Given the description of an element on the screen output the (x, y) to click on. 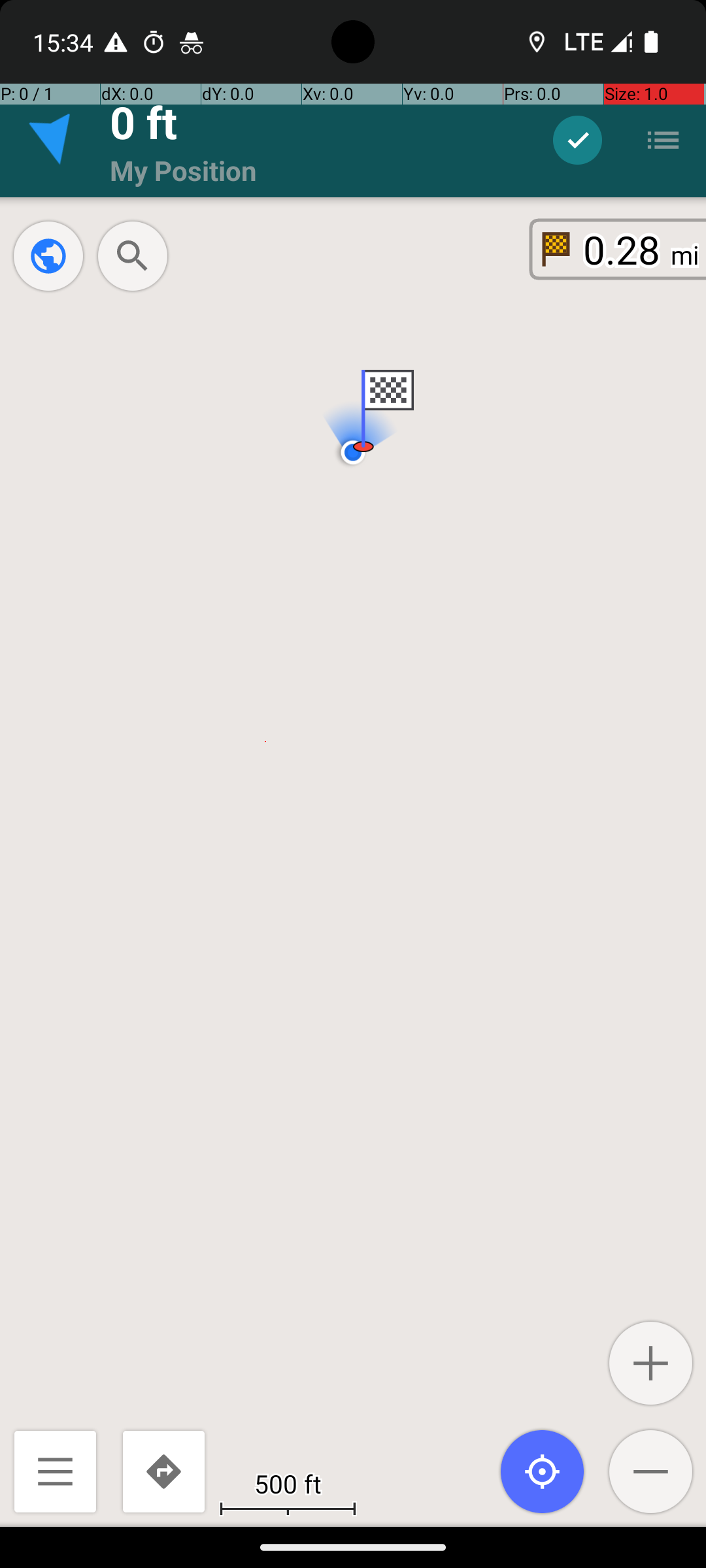
500 ft Element type: android.widget.TextView (287, 1483)
Where am I Element type: android.widget.ImageButton (542, 1471)
0 ft Element type: android.widget.TextView (143, 121)
My Position Element type: android.widget.TextView (182, 169)
Move to history Element type: android.widget.ImageButton (577, 139)
More… Element type: android.widget.ImageButton (663, 139)
Distance to destination 0.28 mi Element type: android.widget.LinearLayout (619, 249)
0.28 Element type: android.widget.TextView (621, 248)
mi Element type: android.widget.TextView (684, 254)
